Given the description of an element on the screen output the (x, y) to click on. 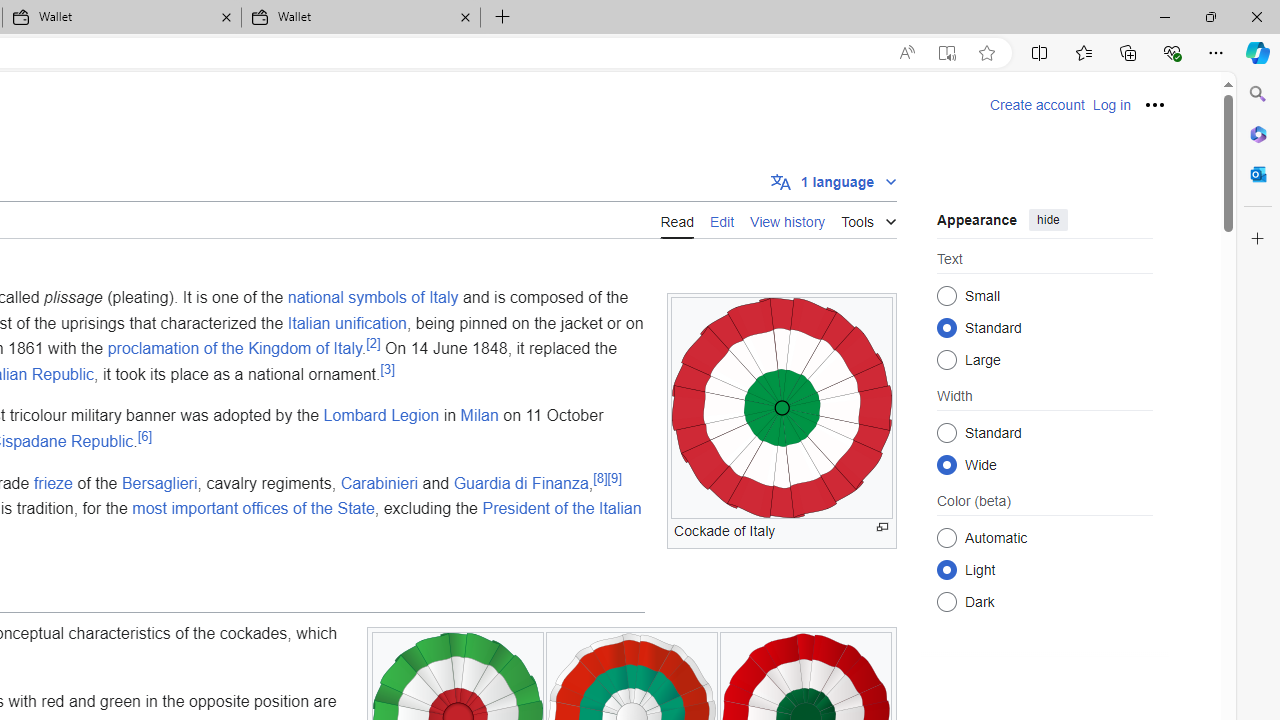
Read (676, 219)
Log in (1111, 105)
Wide (946, 464)
Bersaglieri (159, 482)
Create account (1037, 105)
Create account (1037, 105)
Small (946, 295)
frieze (52, 482)
Read (676, 219)
Enter Immersive Reader (F9) (946, 53)
